Given the description of an element on the screen output the (x, y) to click on. 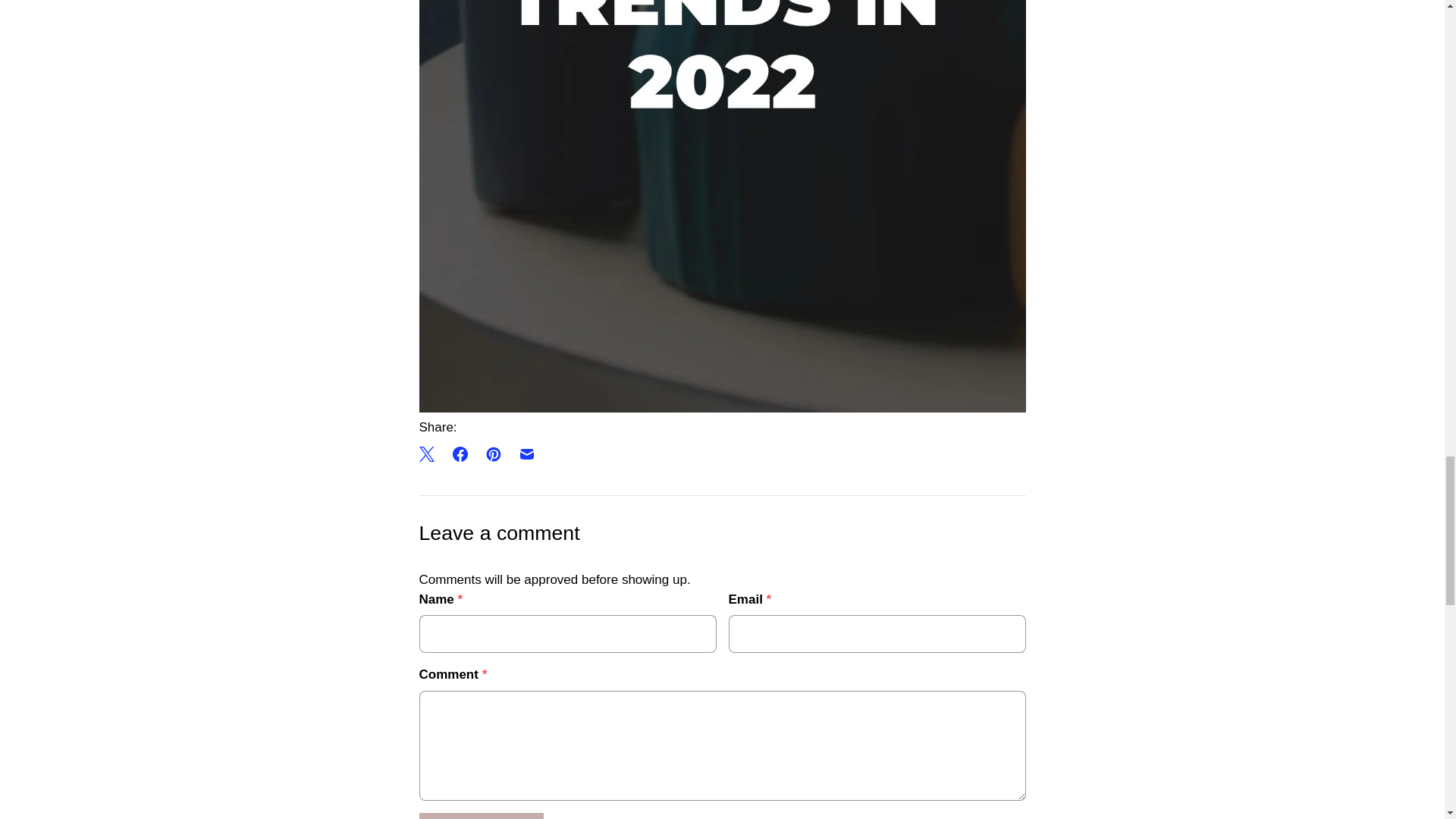
Email this to a friend (526, 453)
Post comment (481, 816)
Share this on Pinterest (492, 453)
Share this on Facebook (459, 453)
Post comment (481, 816)
